Given the description of an element on the screen output the (x, y) to click on. 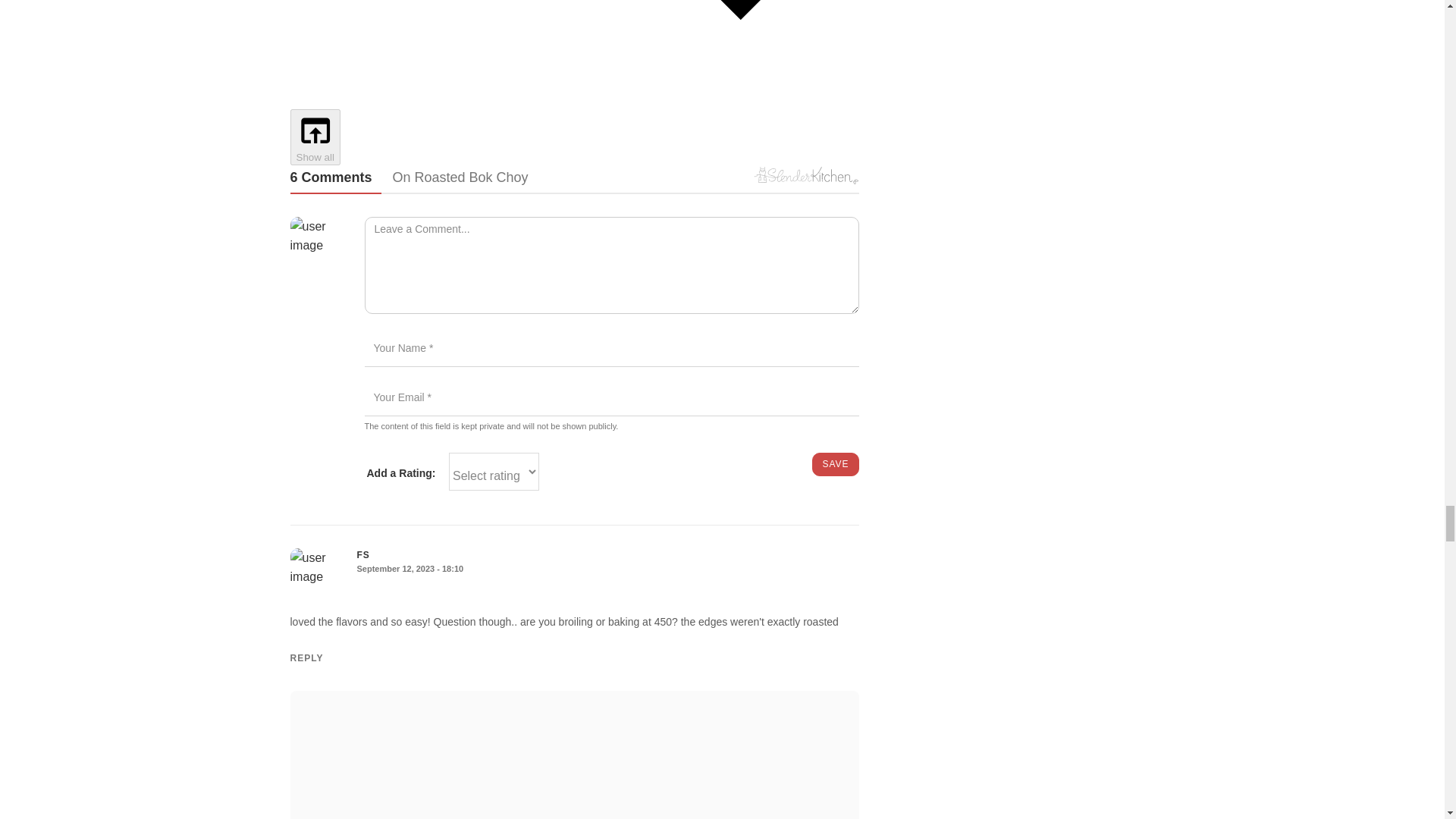
Roasted Bok Choy (558, 178)
